Given the description of an element on the screen output the (x, y) to click on. 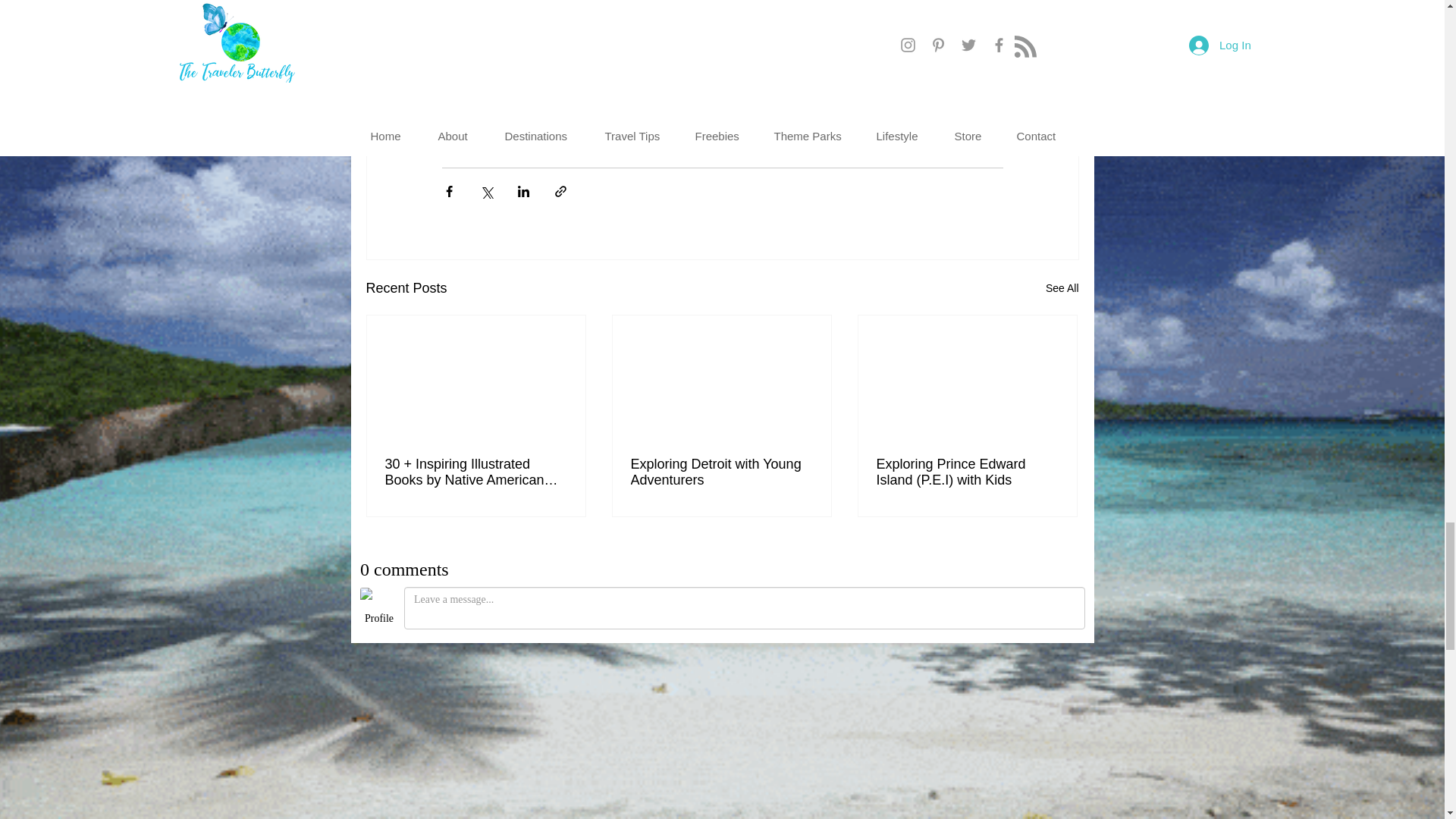
remote content (722, 53)
